Given the description of an element on the screen output the (x, y) to click on. 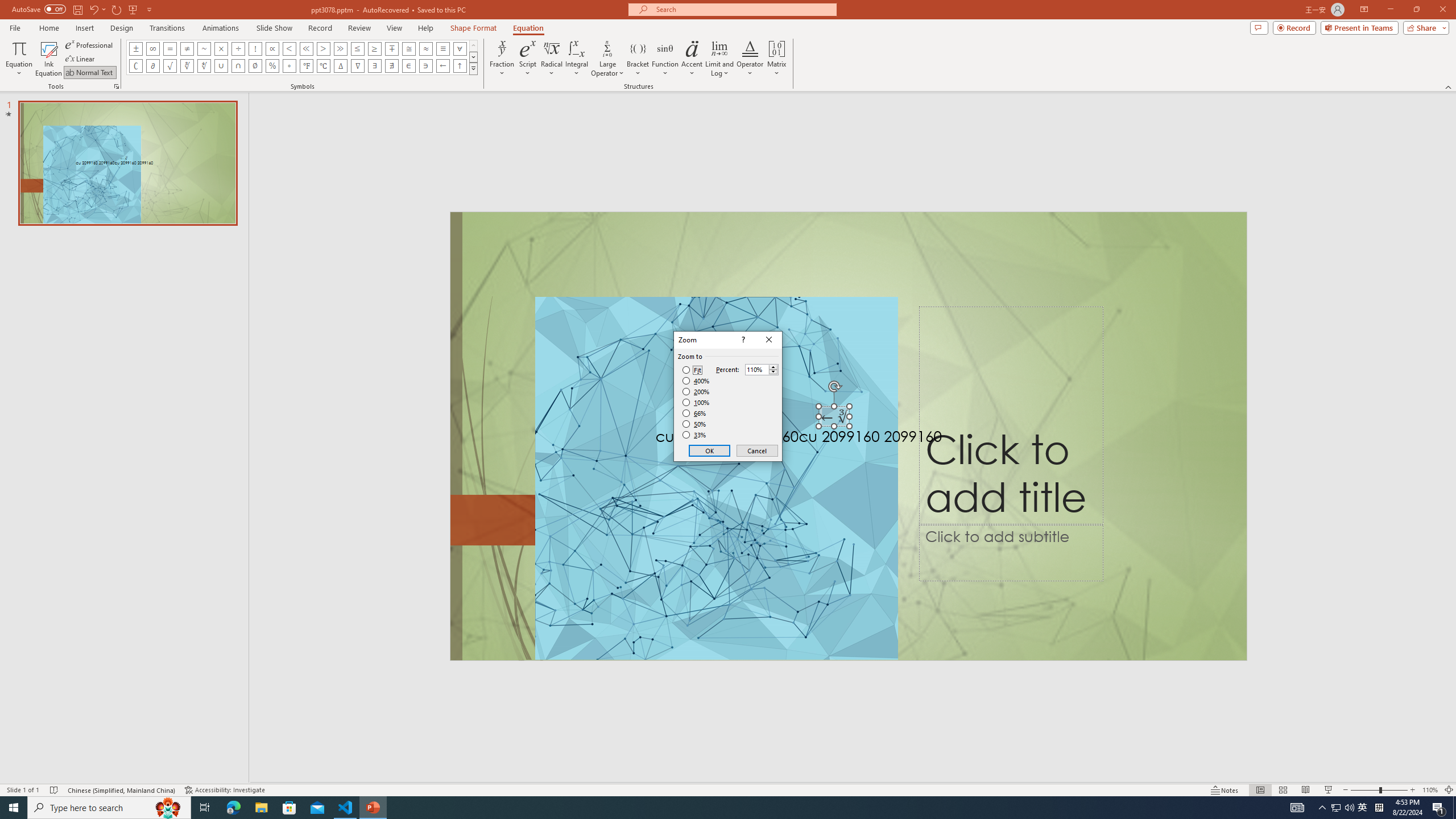
Equation Symbol Multiplication Sign (221, 48)
Ink Equation (48, 58)
Equation Symbol Less Than (289, 48)
Linear (81, 58)
Equation Symbols (472, 68)
